Given the description of an element on the screen output the (x, y) to click on. 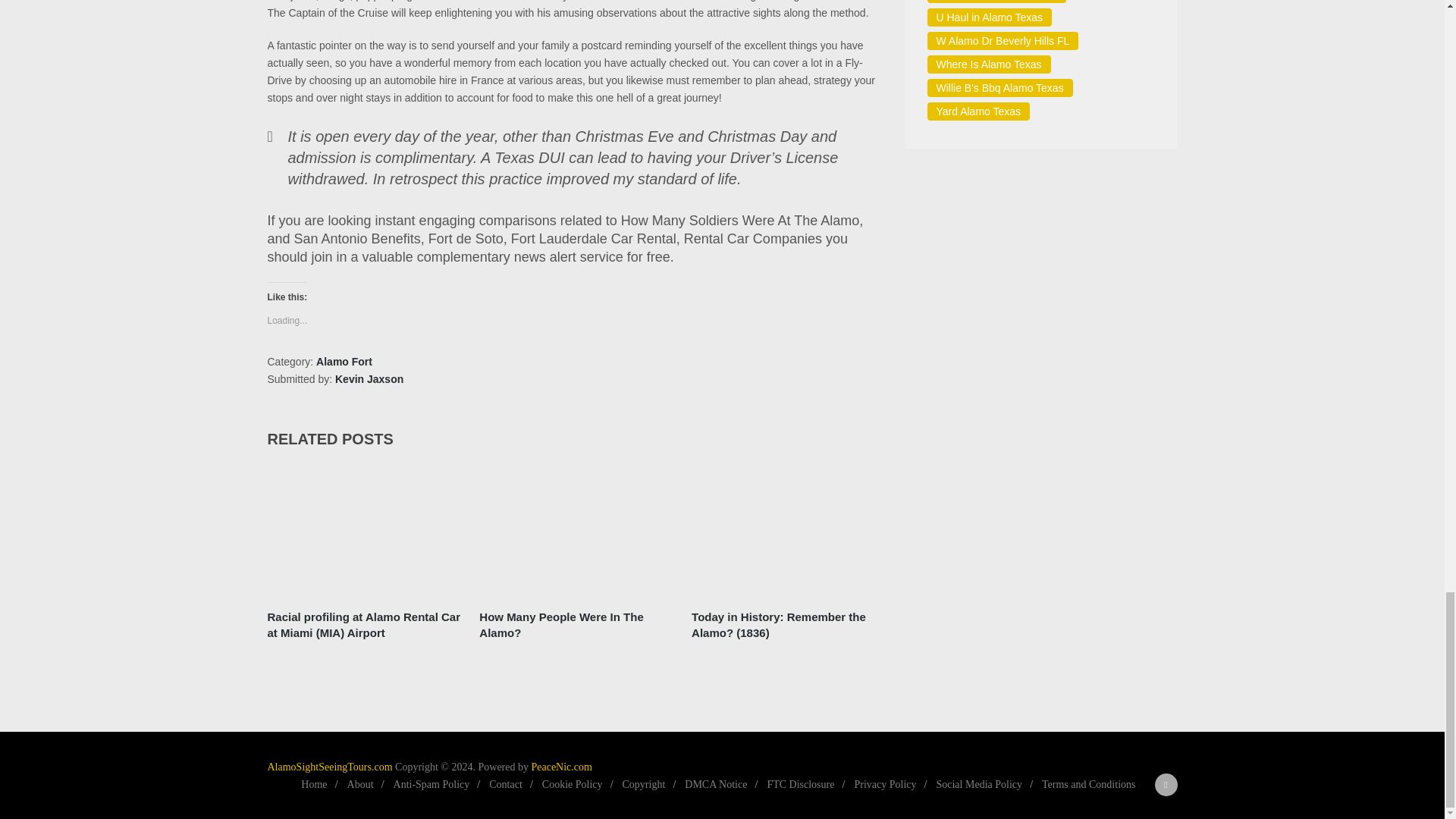
How Many People Were In The Alamo? (575, 624)
How Many People Were In The Alamo? (575, 531)
Kevin Jaxson (368, 378)
Alamo Fort (343, 361)
How Many People Were In The Alamo? (575, 624)
